Given the description of an element on the screen output the (x, y) to click on. 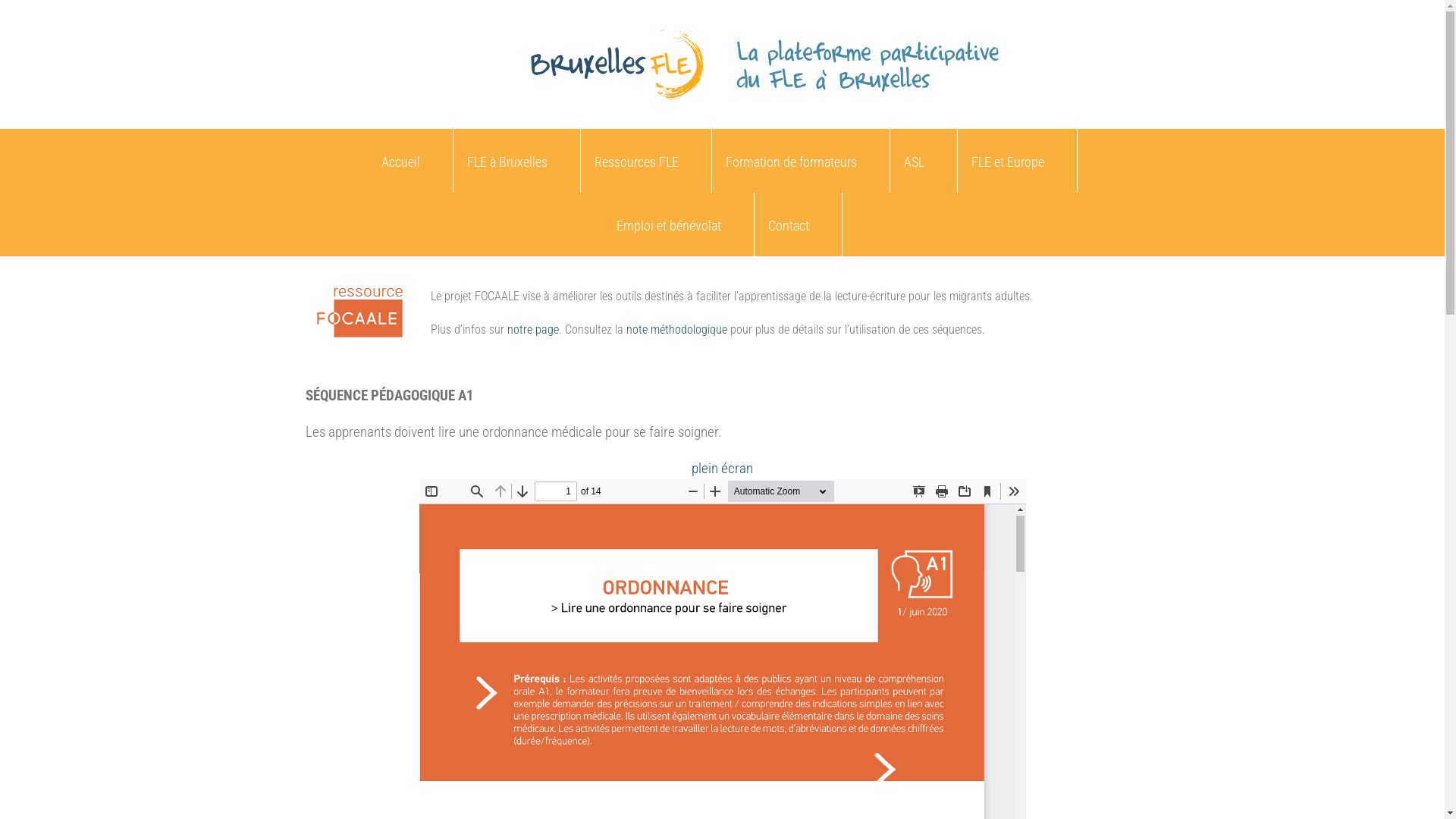
FLE et Europe Element type: text (1007, 160)
Contact Element type: text (787, 224)
Ressources FLE Element type: text (636, 160)
Formation de formateurs Element type: text (790, 160)
ASL Element type: text (914, 160)
notre page Element type: text (532, 329)
Accueil Element type: text (400, 160)
